Given the description of an element on the screen output the (x, y) to click on. 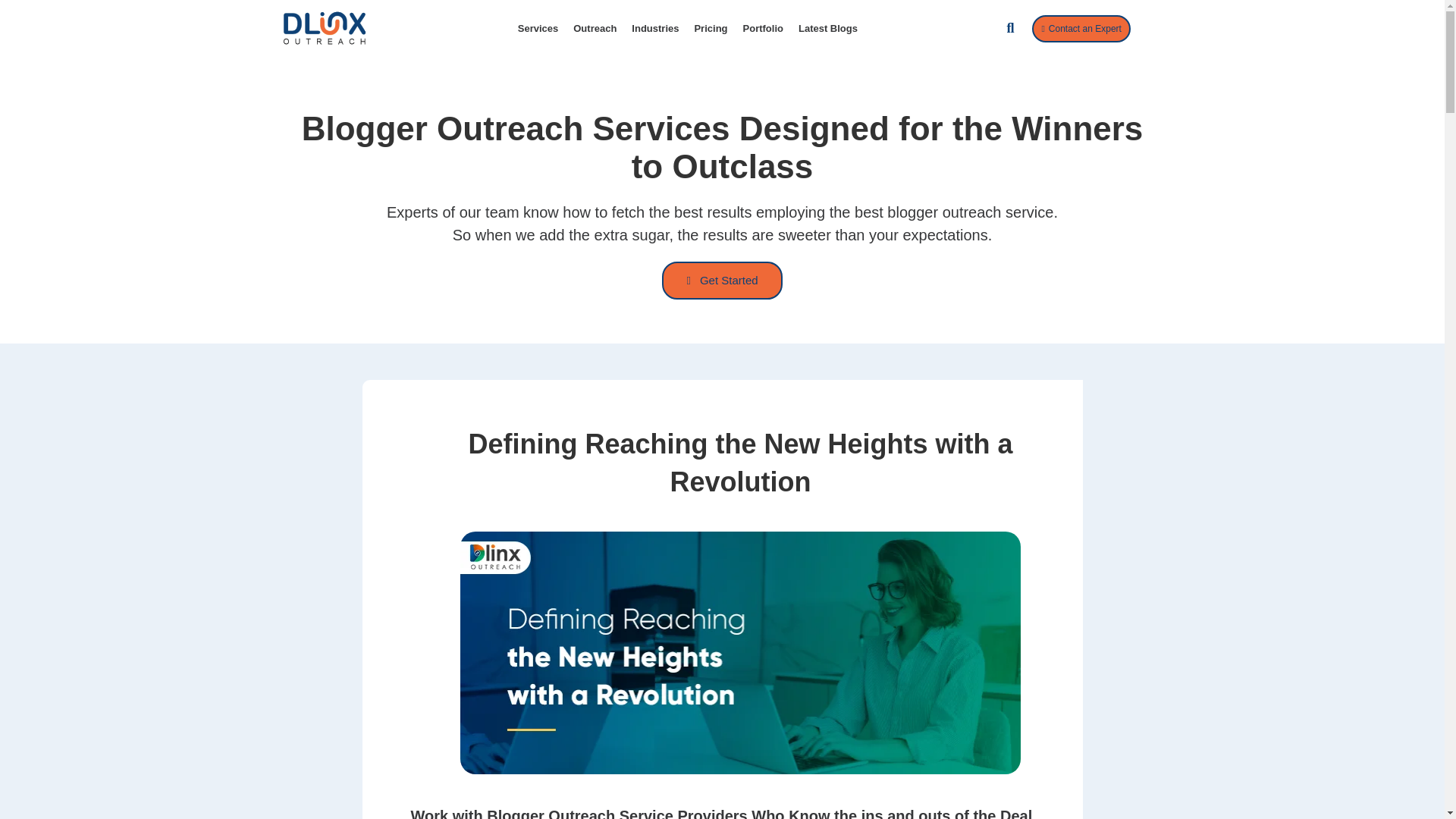
Services (538, 28)
Industries (654, 28)
Outreach (595, 28)
